Given the description of an element on the screen output the (x, y) to click on. 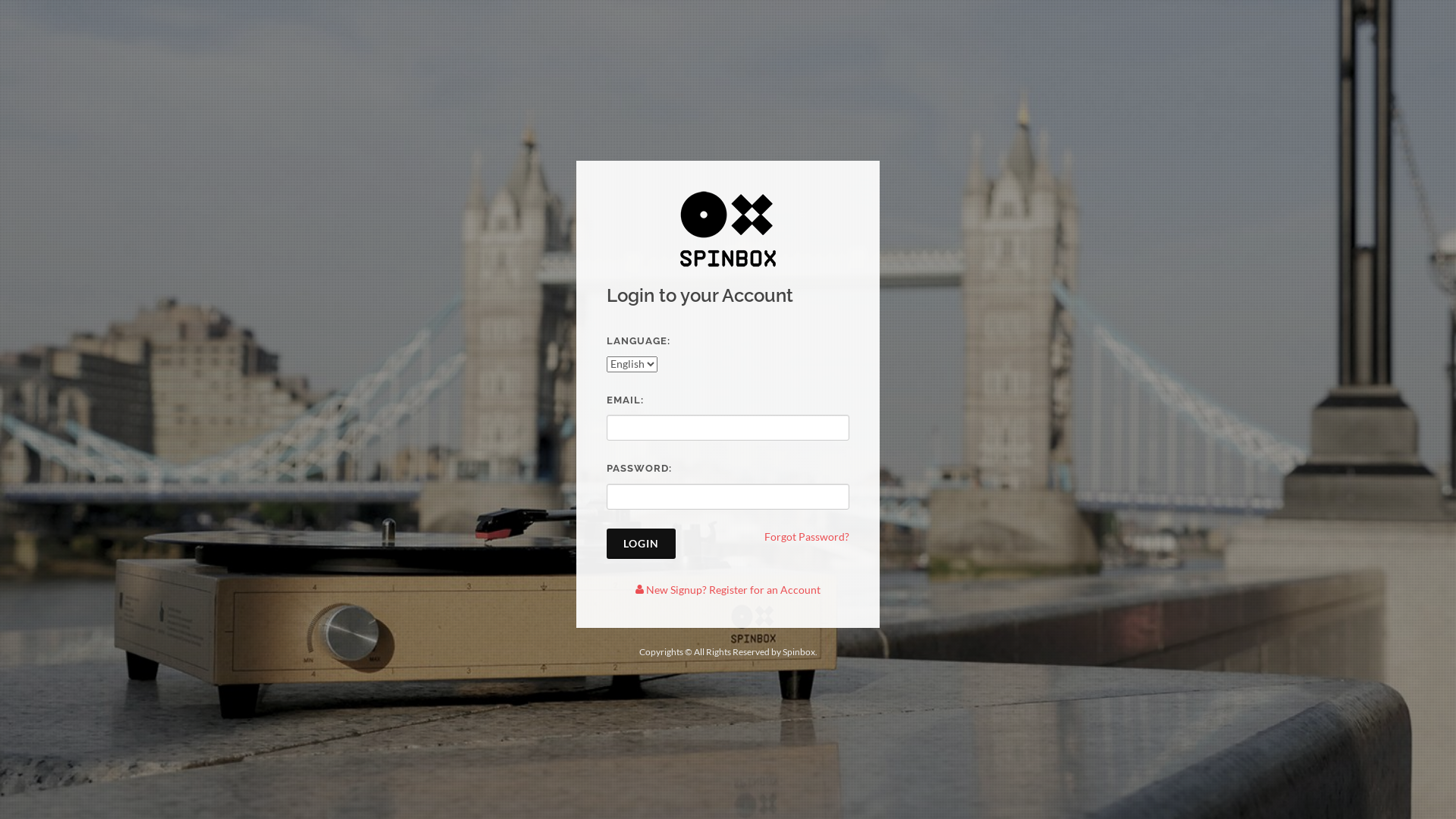
New Signup? Register for an Account Element type: text (727, 588)
LOGIN Element type: text (640, 542)
Forgot Password? Element type: text (806, 535)
